Given the description of an element on the screen output the (x, y) to click on. 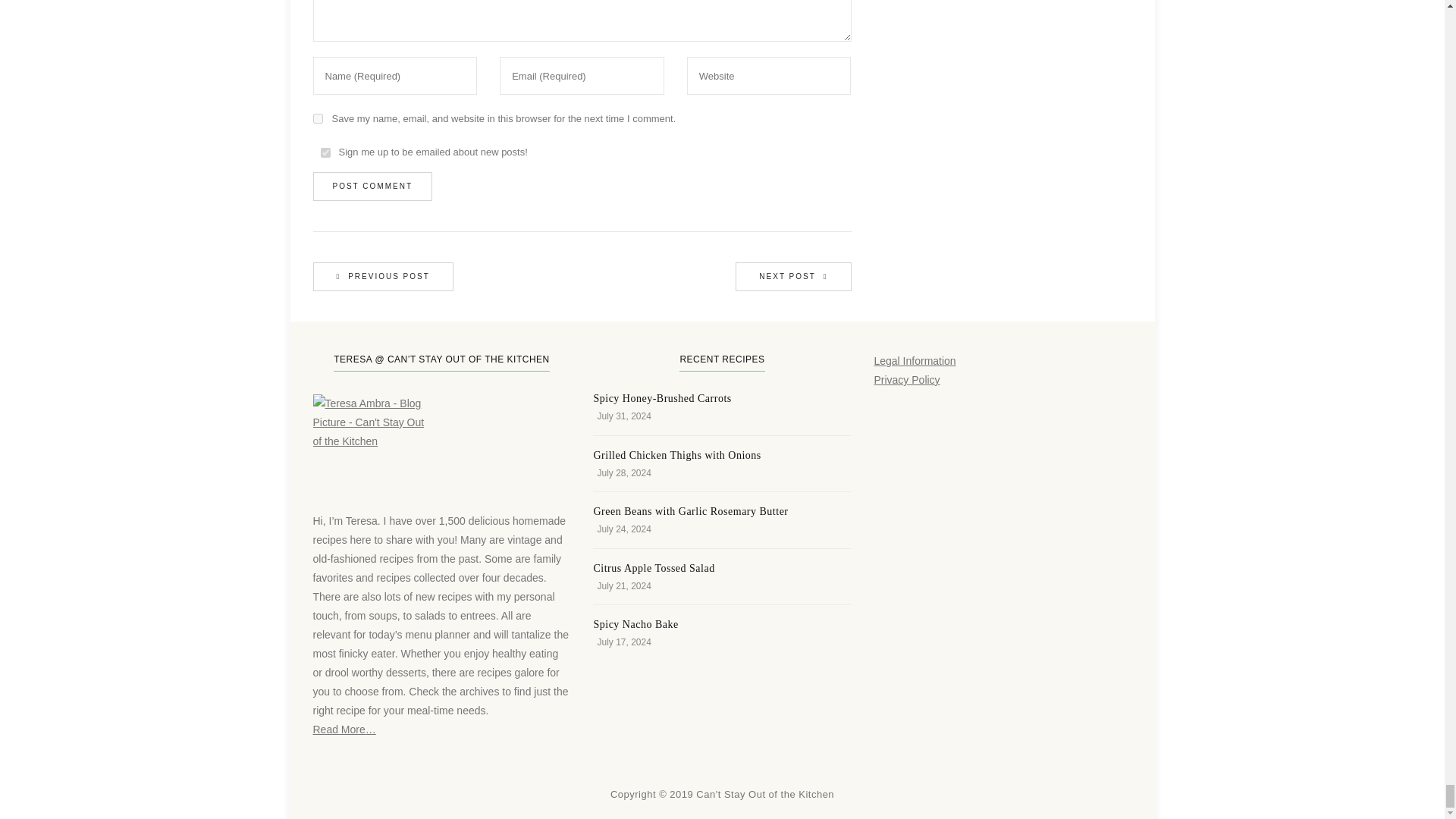
yes (317, 118)
Post Comment (371, 185)
1 (325, 153)
